Given the description of an element on the screen output the (x, y) to click on. 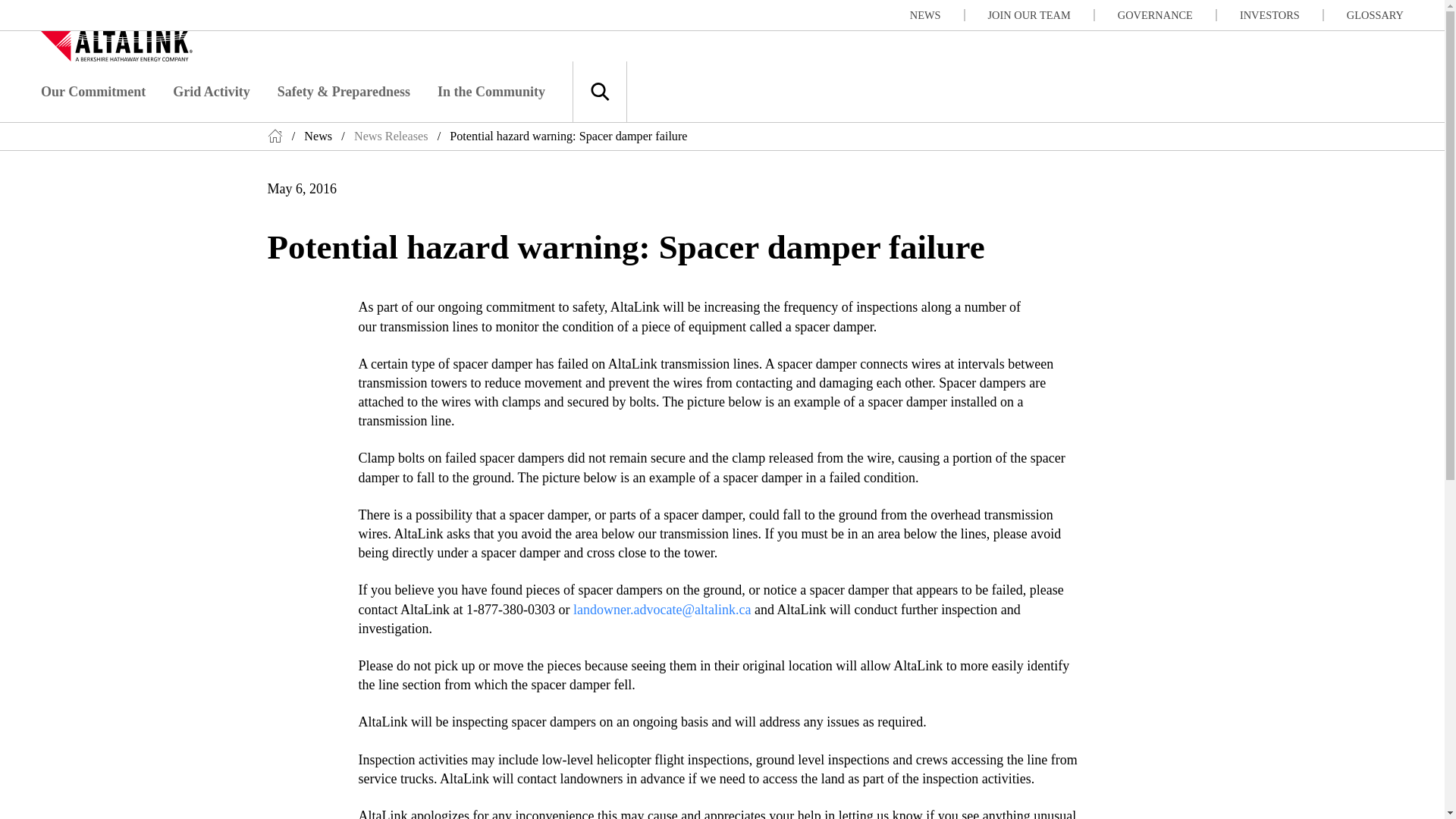
GOVERNANCE (1167, 15)
News (317, 136)
NEWS (937, 15)
JOIN OUR TEAM (1041, 15)
INVESTORS (1281, 15)
GLOSSARY (1374, 15)
